Given the description of an element on the screen output the (x, y) to click on. 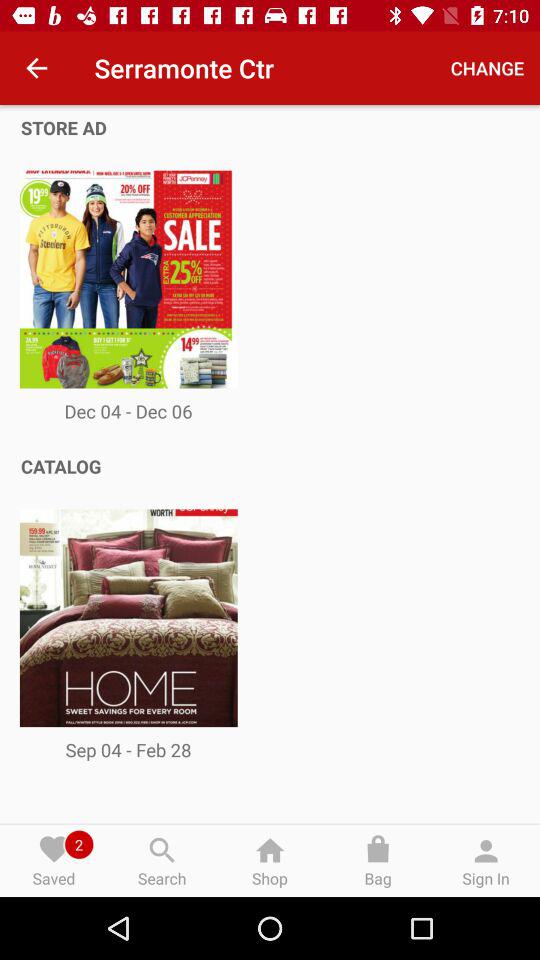
launch icon to the right of serramonte ctr (487, 67)
